Given the description of an element on the screen output the (x, y) to click on. 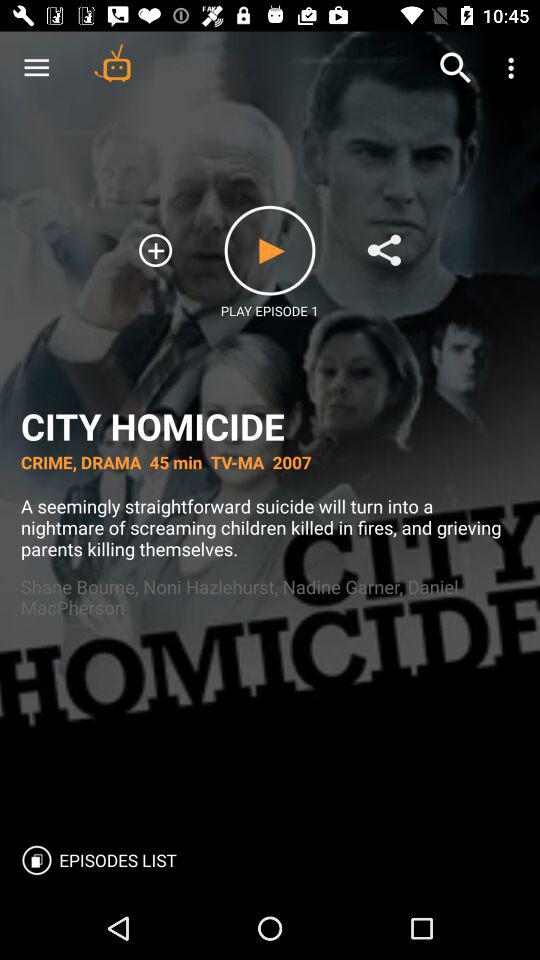
add episode to watchlist (155, 250)
